Given the description of an element on the screen output the (x, y) to click on. 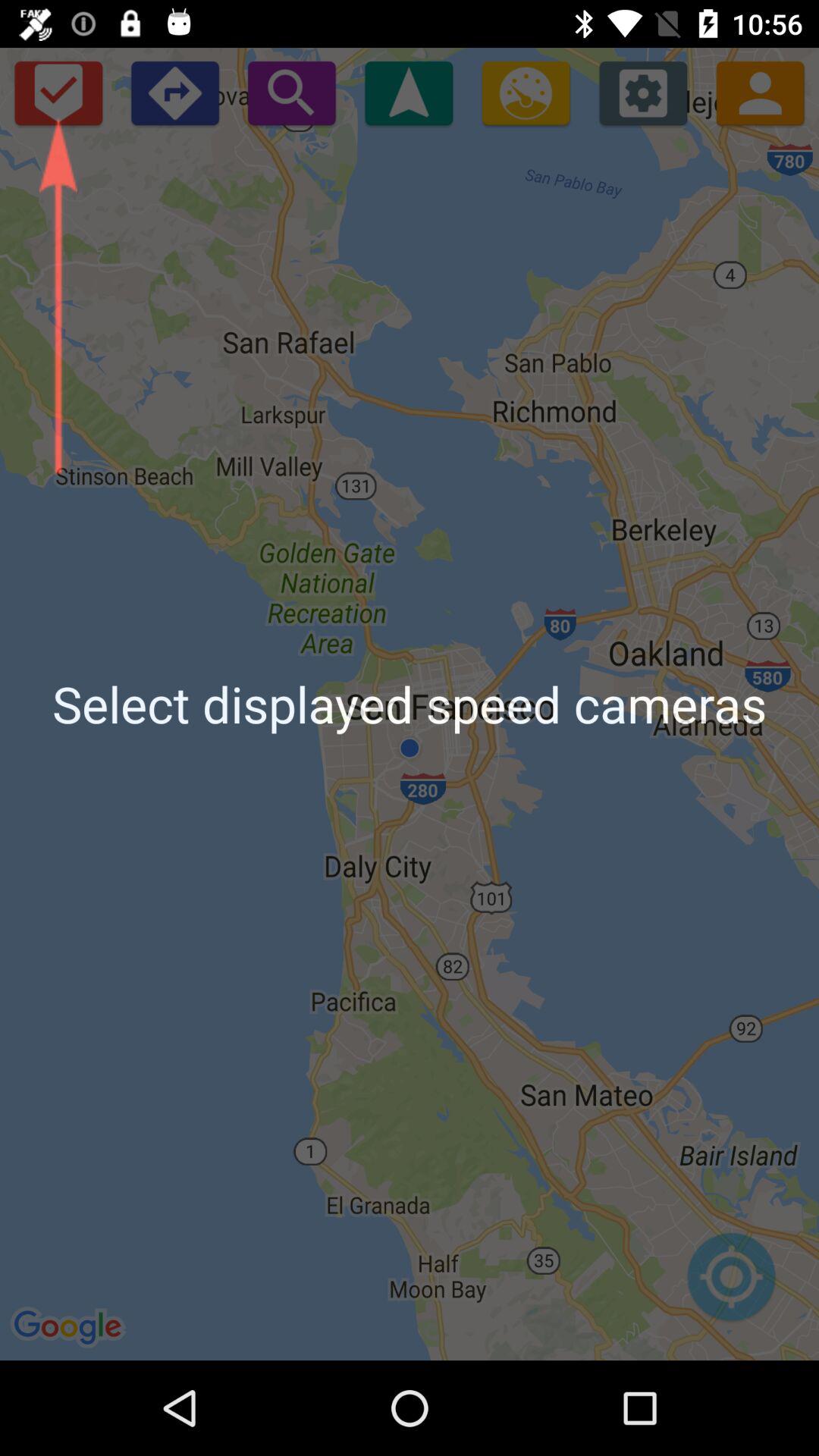
zoom to current location (731, 1284)
